Given the description of an element on the screen output the (x, y) to click on. 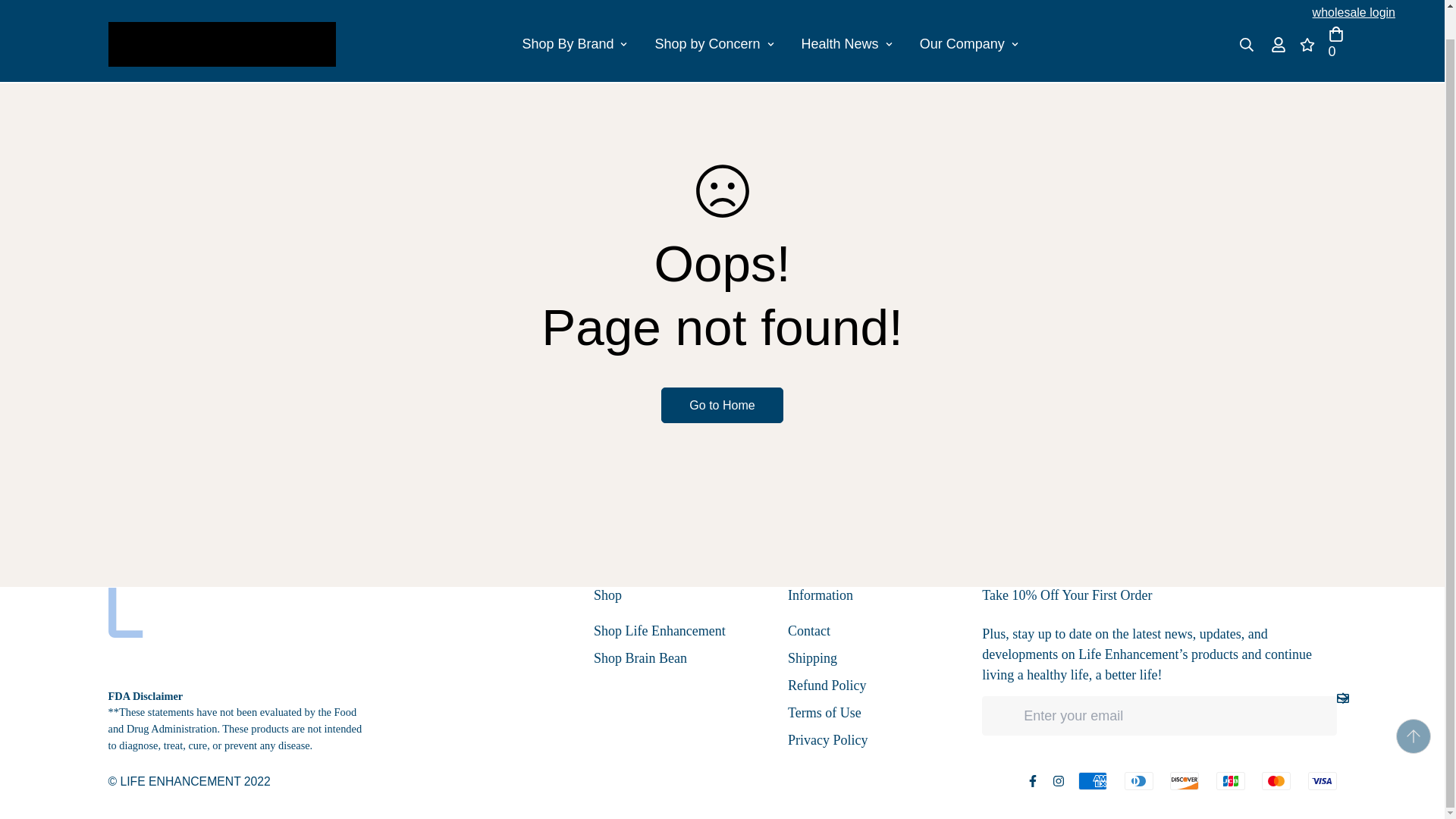
Our Company (968, 44)
Shop by Concern (713, 44)
Life Enhancement Products (220, 44)
Health News (846, 44)
Shop By Brand (770, 44)
wholesale login (574, 44)
